Given the description of an element on the screen output the (x, y) to click on. 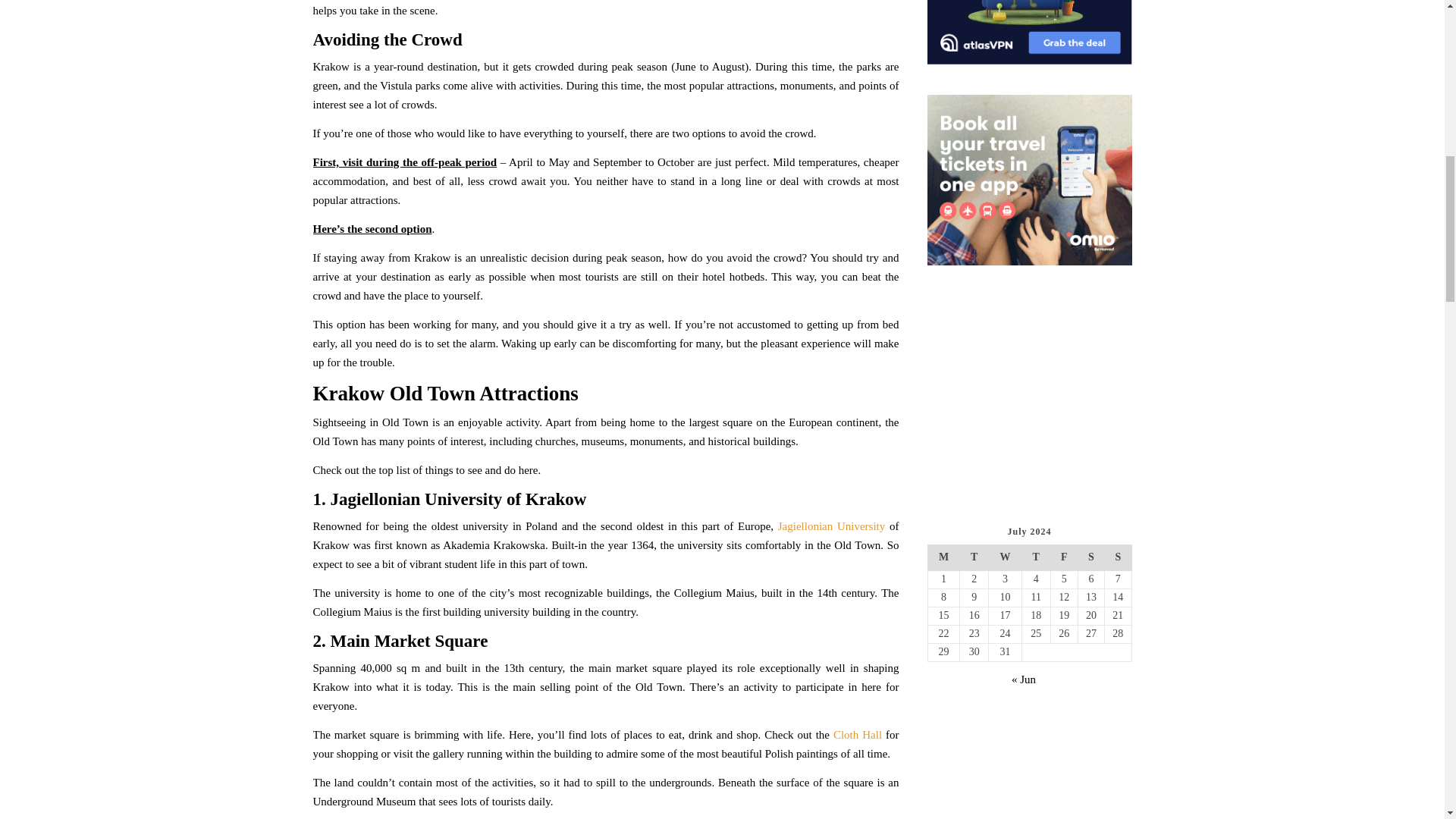
Wednesday (1005, 557)
Jagiellonian University (831, 526)
Tuesday (973, 557)
Cloth Hall (858, 734)
Monday (943, 557)
